Given the description of an element on the screen output the (x, y) to click on. 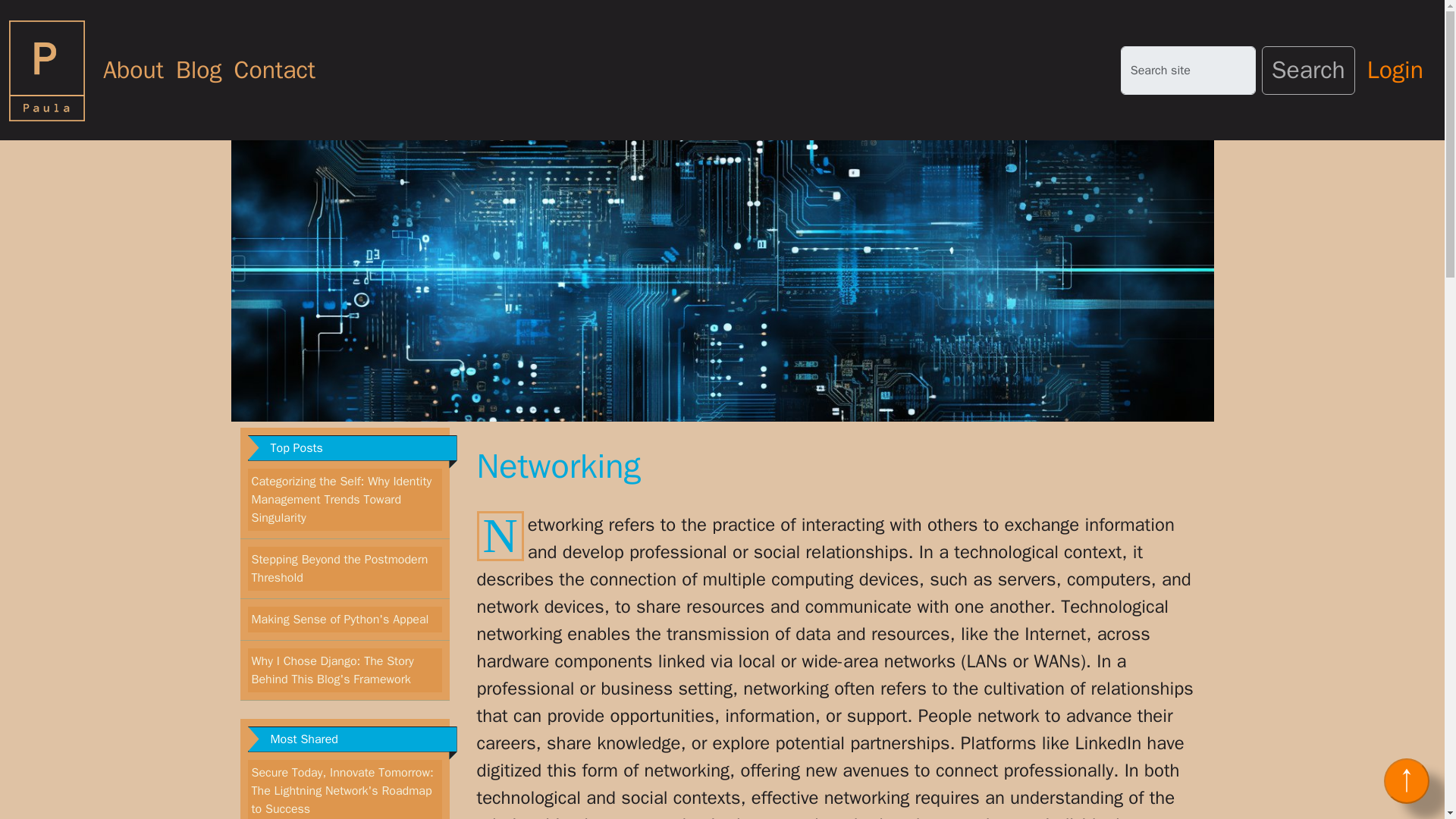
About (133, 70)
Making Sense of Python's Appeal (340, 619)
Stepping Beyond the Postmodern Threshold (339, 568)
Login (1395, 70)
Search (1308, 70)
Blog (199, 70)
Why I Chose Django: The Story Behind This Blog's Framework (332, 670)
Contact (274, 70)
